Given the description of an element on the screen output the (x, y) to click on. 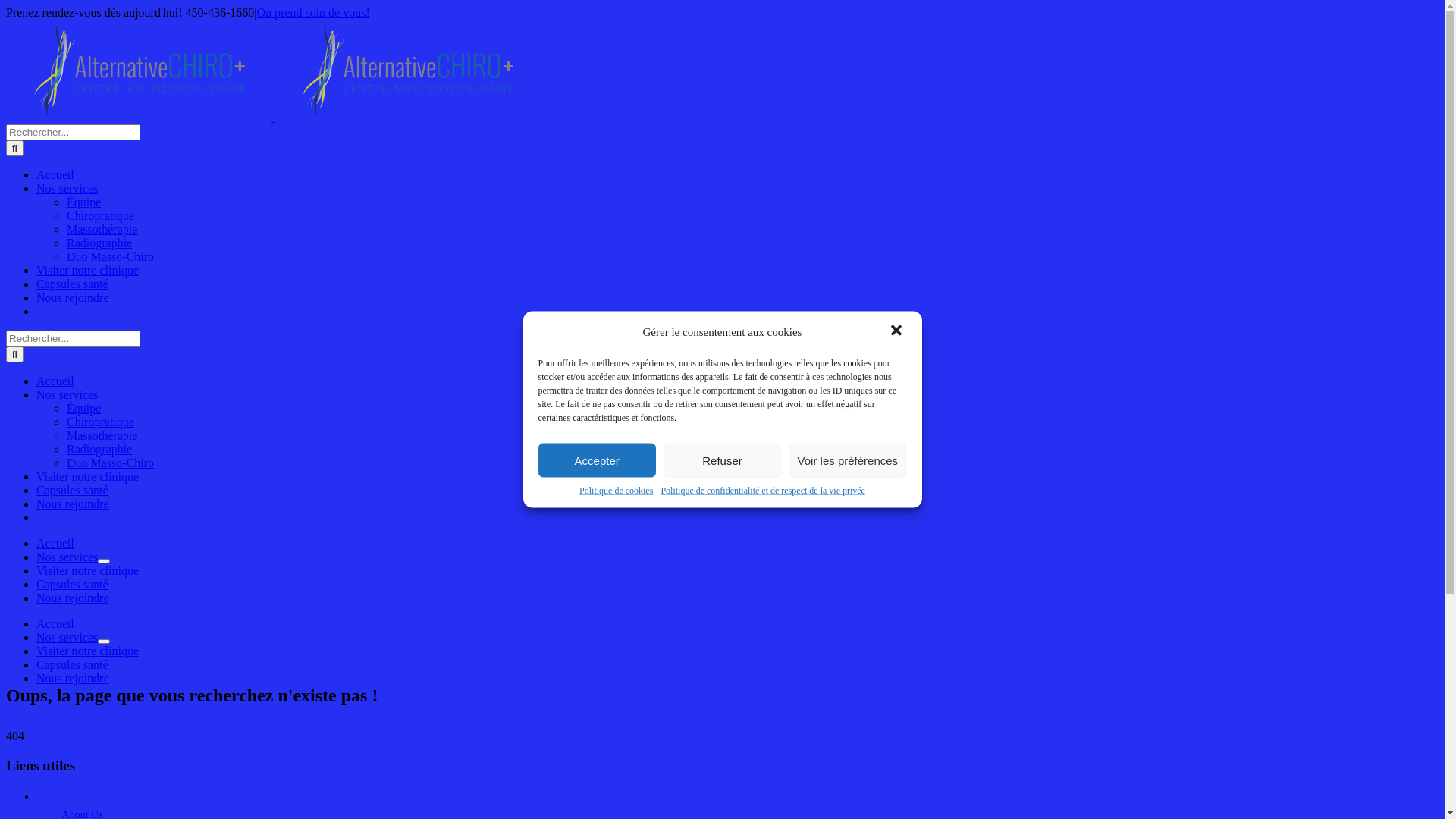
Accueil Element type: text (55, 542)
Nos services Element type: text (66, 556)
Radiographie Element type: text (98, 448)
On prend soin de vous! Element type: text (312, 12)
Radiographie Element type: text (98, 242)
Visiter notre clinique Element type: text (87, 269)
Visiter notre clinique Element type: text (87, 570)
Politique de cookies Element type: text (615, 490)
Accueil Element type: text (55, 174)
Chiropratique Element type: text (100, 215)
Nous rejoindre Element type: text (72, 597)
Nous rejoindre Element type: text (72, 503)
Refuser Element type: text (722, 459)
Chiropratique Element type: text (100, 421)
Visiter notre clinique Element type: text (87, 650)
Nous rejoindre Element type: text (72, 677)
Nos services Element type: text (66, 636)
Duo Masso-Chiro Element type: text (109, 256)
Duo Masso-Chiro Element type: text (109, 462)
Accepter Element type: text (596, 459)
Nos services Element type: text (66, 394)
Visiter notre clinique Element type: text (87, 476)
Nous rejoindre Element type: text (72, 297)
Nos services Element type: text (66, 188)
Accueil Element type: text (55, 623)
Passer au contenu Element type: text (5, 5)
Accueil Element type: text (55, 380)
